Given the description of an element on the screen output the (x, y) to click on. 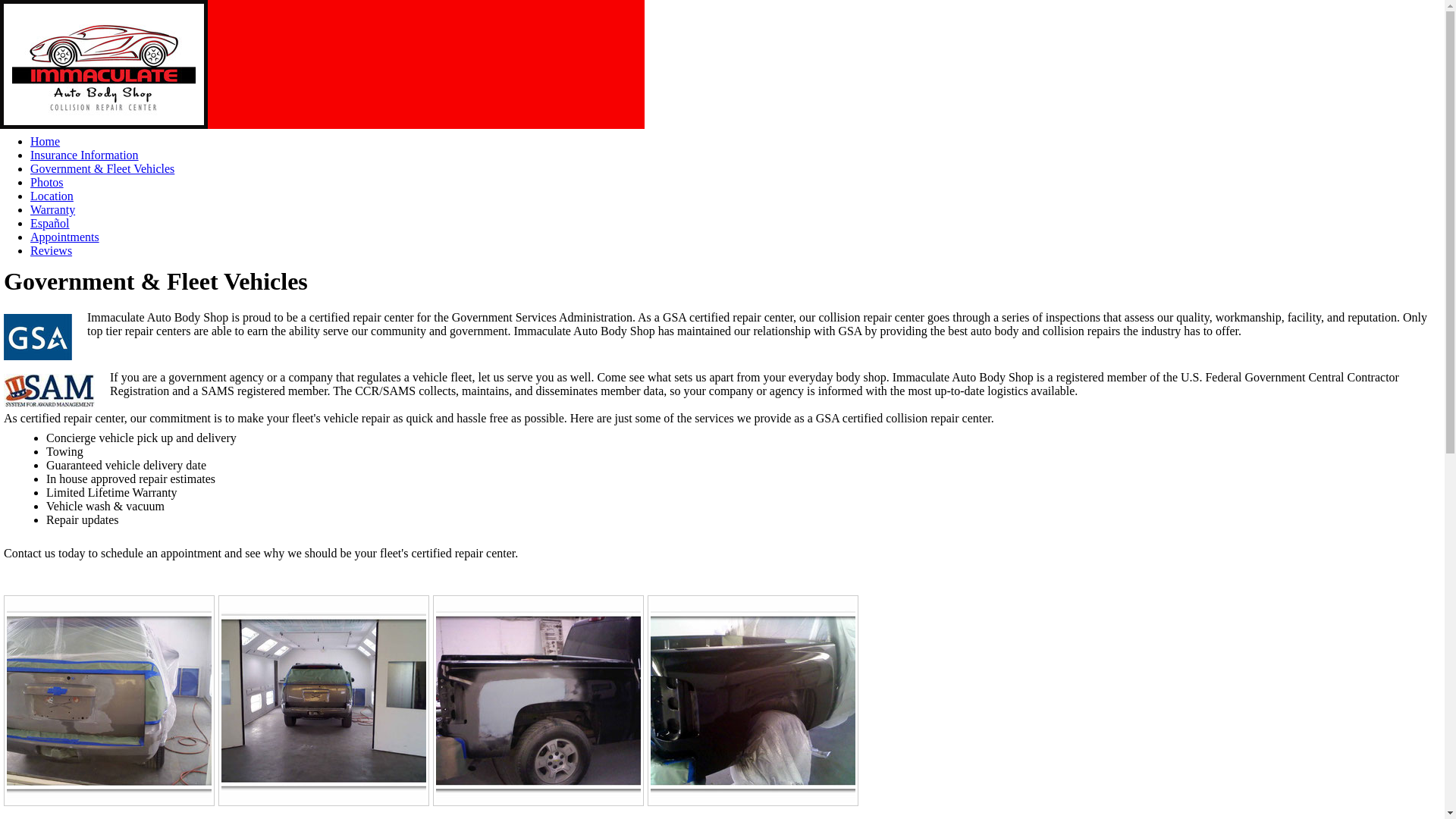
Photos (47, 182)
Reviews (50, 250)
Home (44, 141)
Appointments (64, 236)
Location (52, 195)
Insurance Information (84, 154)
Warranty (52, 209)
